Given the description of an element on the screen output the (x, y) to click on. 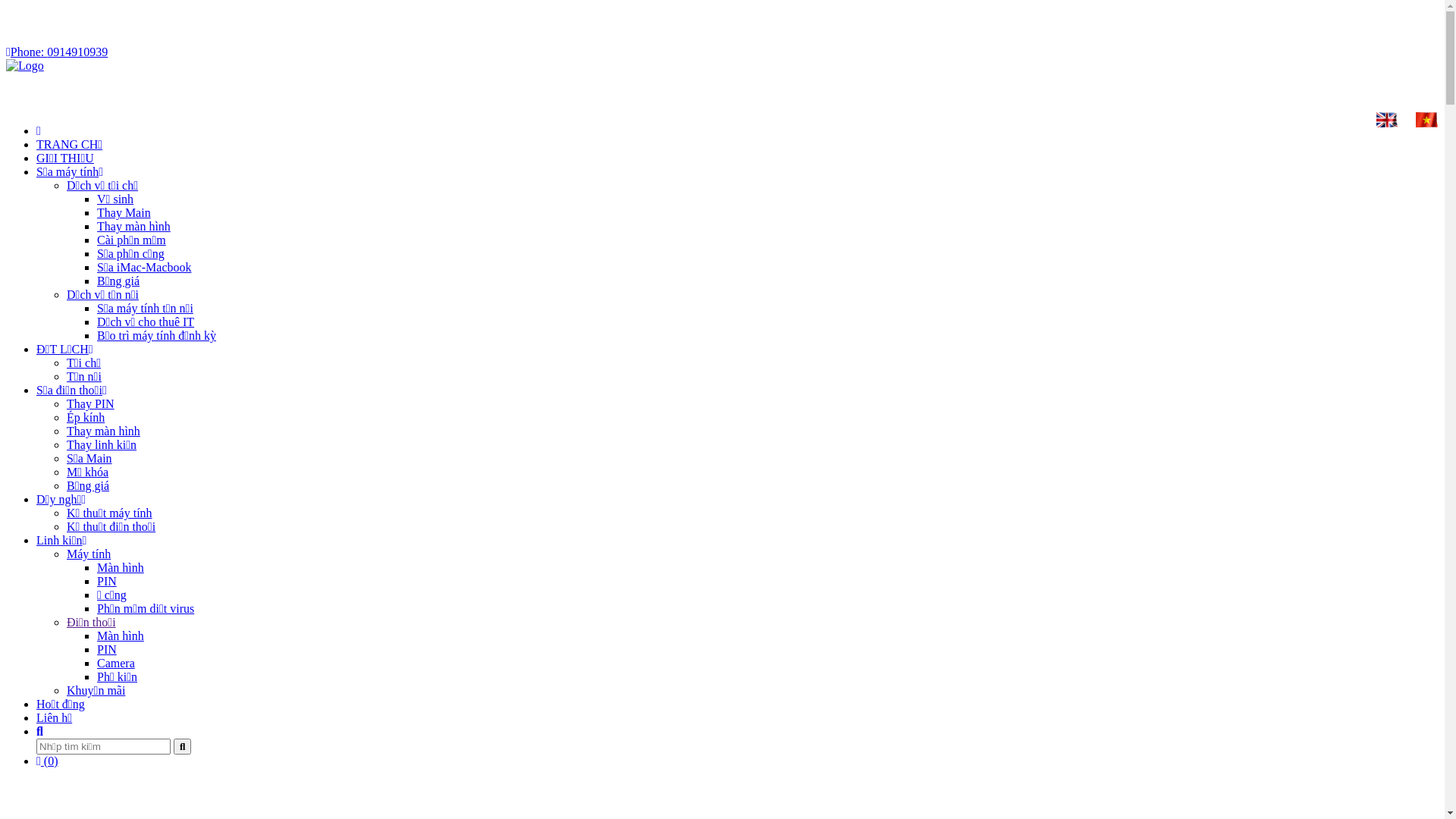
Thay PIN Element type: text (90, 403)
PIN Element type: text (106, 649)
Thay Main Element type: text (123, 212)
(0) Element type: text (47, 760)
Phone: 0914910939 Element type: text (56, 51)
Camera Element type: text (115, 662)
PIN Element type: text (106, 580)
